Given the description of an element on the screen output the (x, y) to click on. 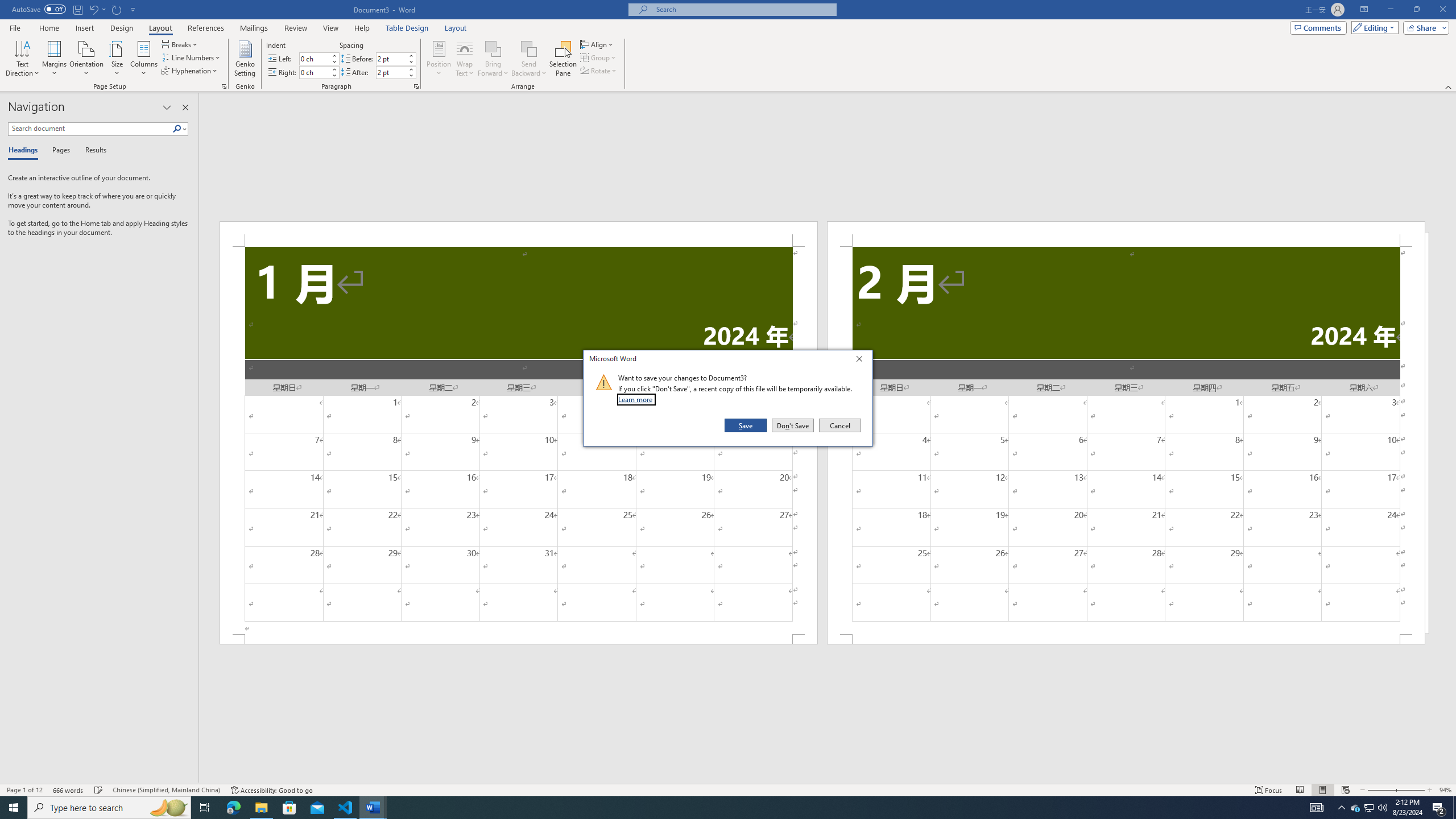
Wrap Text (464, 58)
Less (411, 75)
Results (91, 150)
Selection Pane... (563, 58)
Class: NetUIScrollBar (827, 778)
Task View (204, 807)
Don't Save (792, 425)
Send Backward (528, 48)
